Given the description of an element on the screen output the (x, y) to click on. 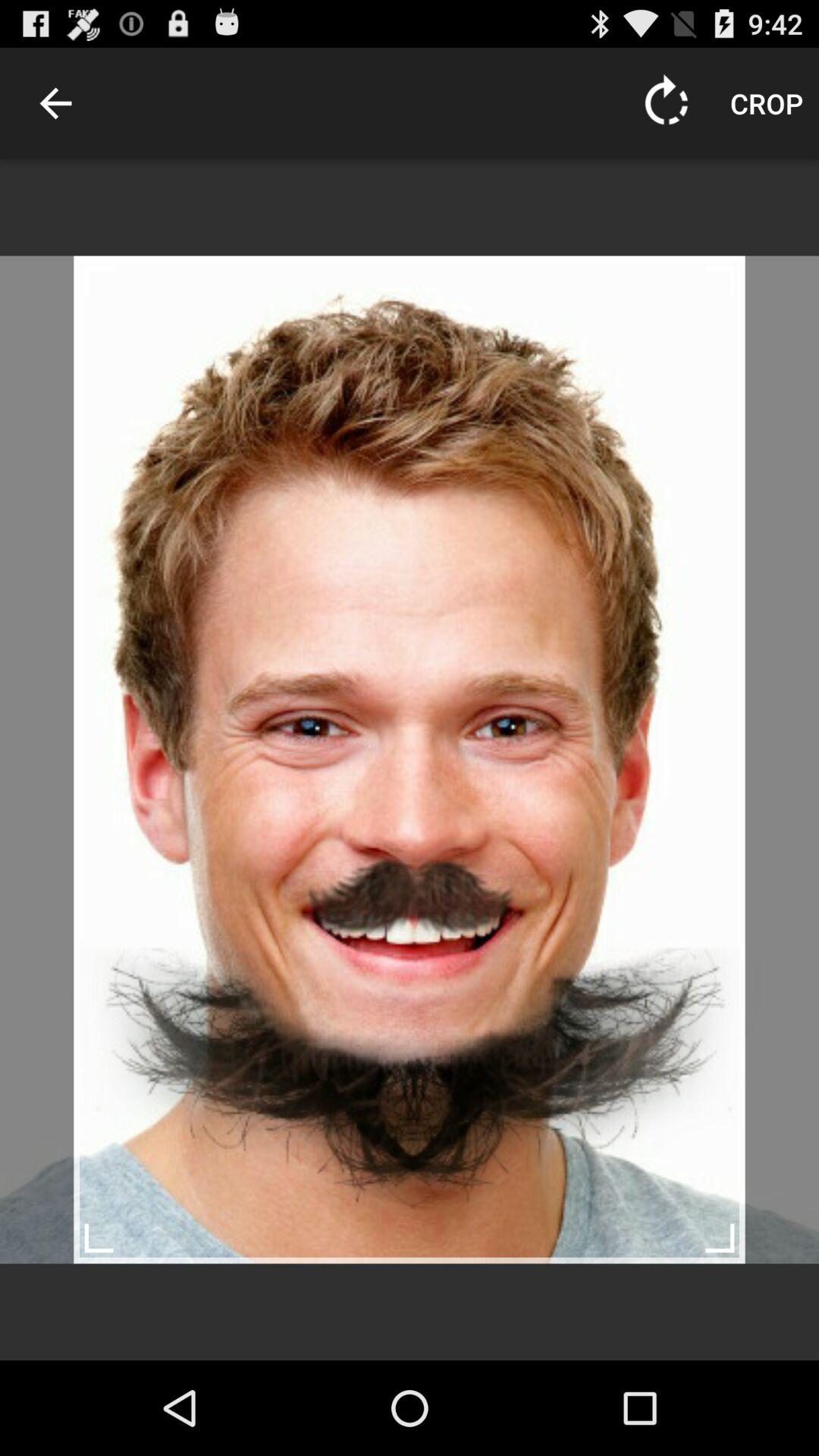
tap icon to the left of crop item (666, 103)
